Given the description of an element on the screen output the (x, y) to click on. 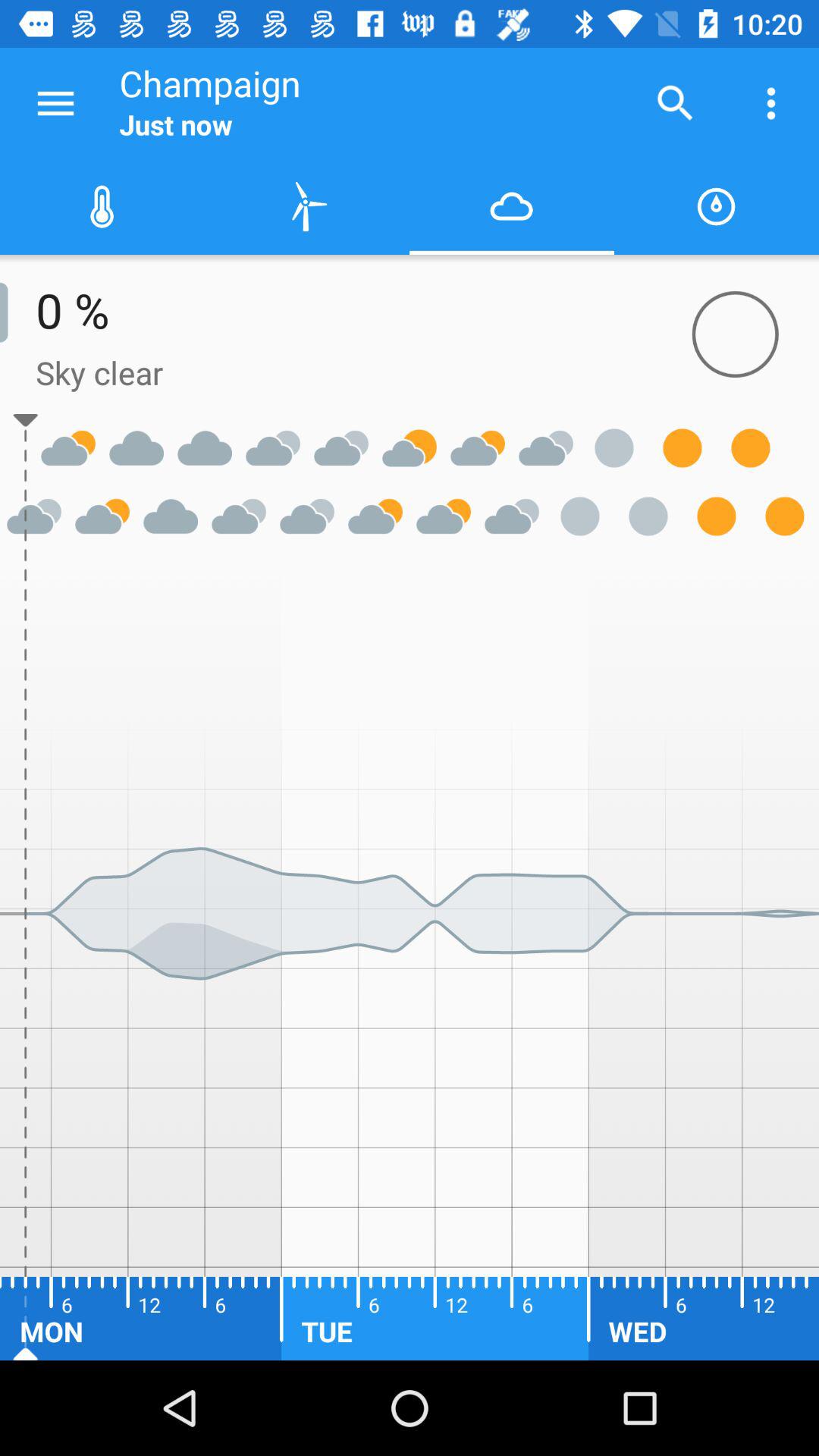
menu option (55, 103)
